Given the description of an element on the screen output the (x, y) to click on. 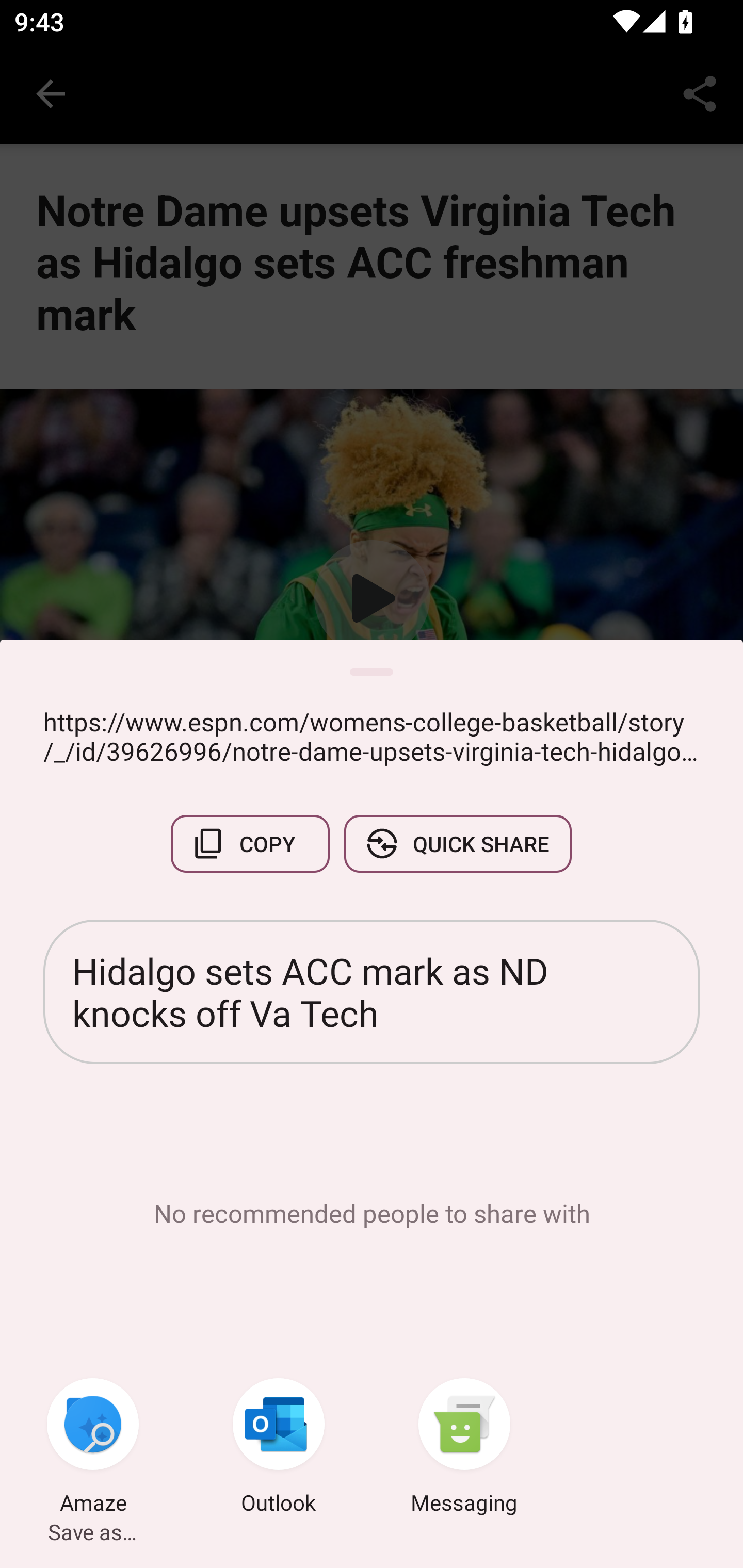
COPY (249, 844)
QUICK SHARE (457, 844)
Amaze Save as… (92, 1448)
Outlook (278, 1448)
Messaging (464, 1448)
